Given the description of an element on the screen output the (x, y) to click on. 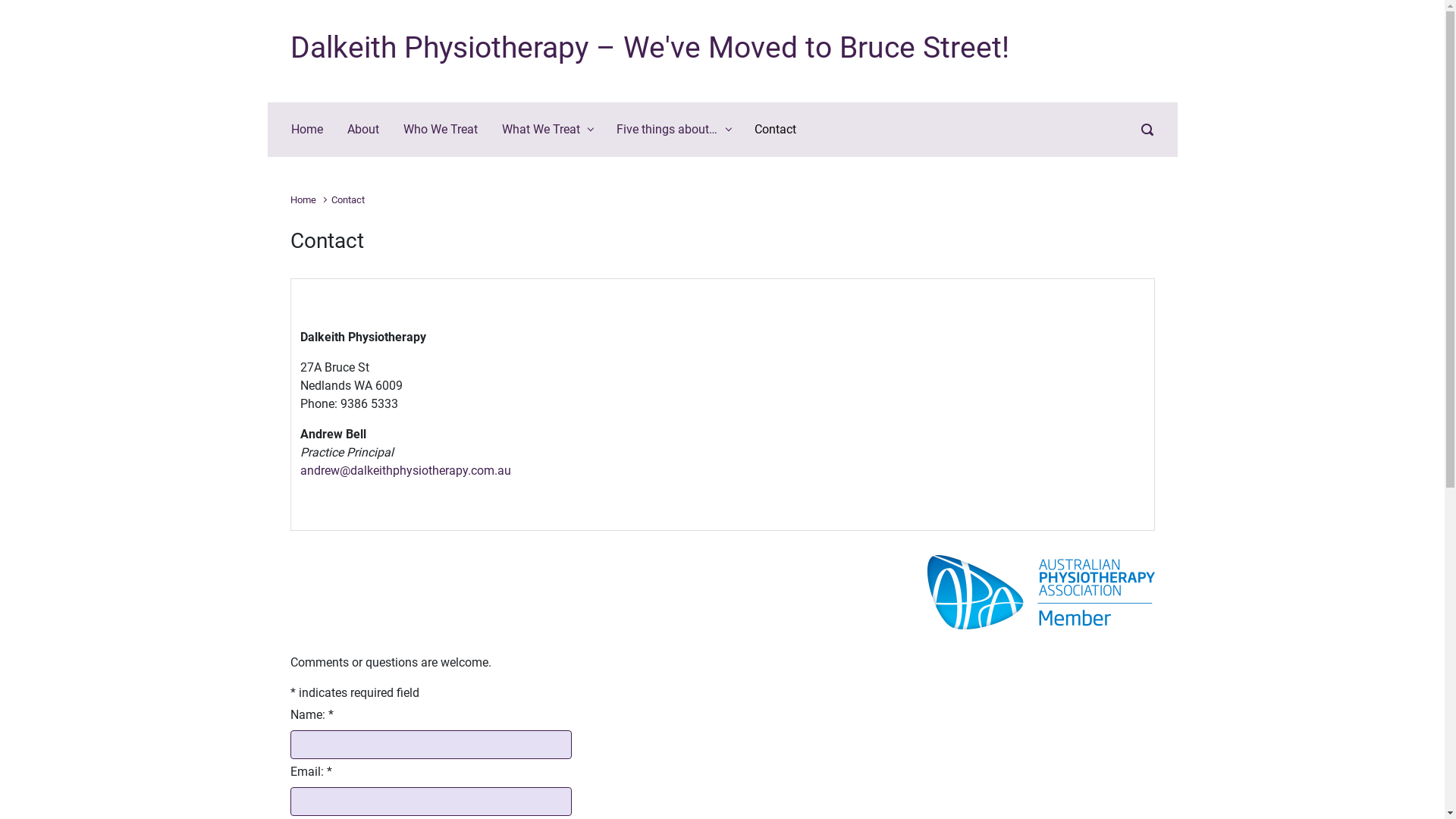
Contact Element type: text (775, 129)
What We Treat Element type: text (547, 129)
Home Element type: text (307, 129)
andrew@dalkeithphysiotherapy.com.au Element type: text (405, 470)
About Element type: text (363, 129)
Who We Treat Element type: text (440, 129)
Home Element type: text (302, 199)
APA Member Logo Element type: hover (1040, 592)
